Given the description of an element on the screen output the (x, y) to click on. 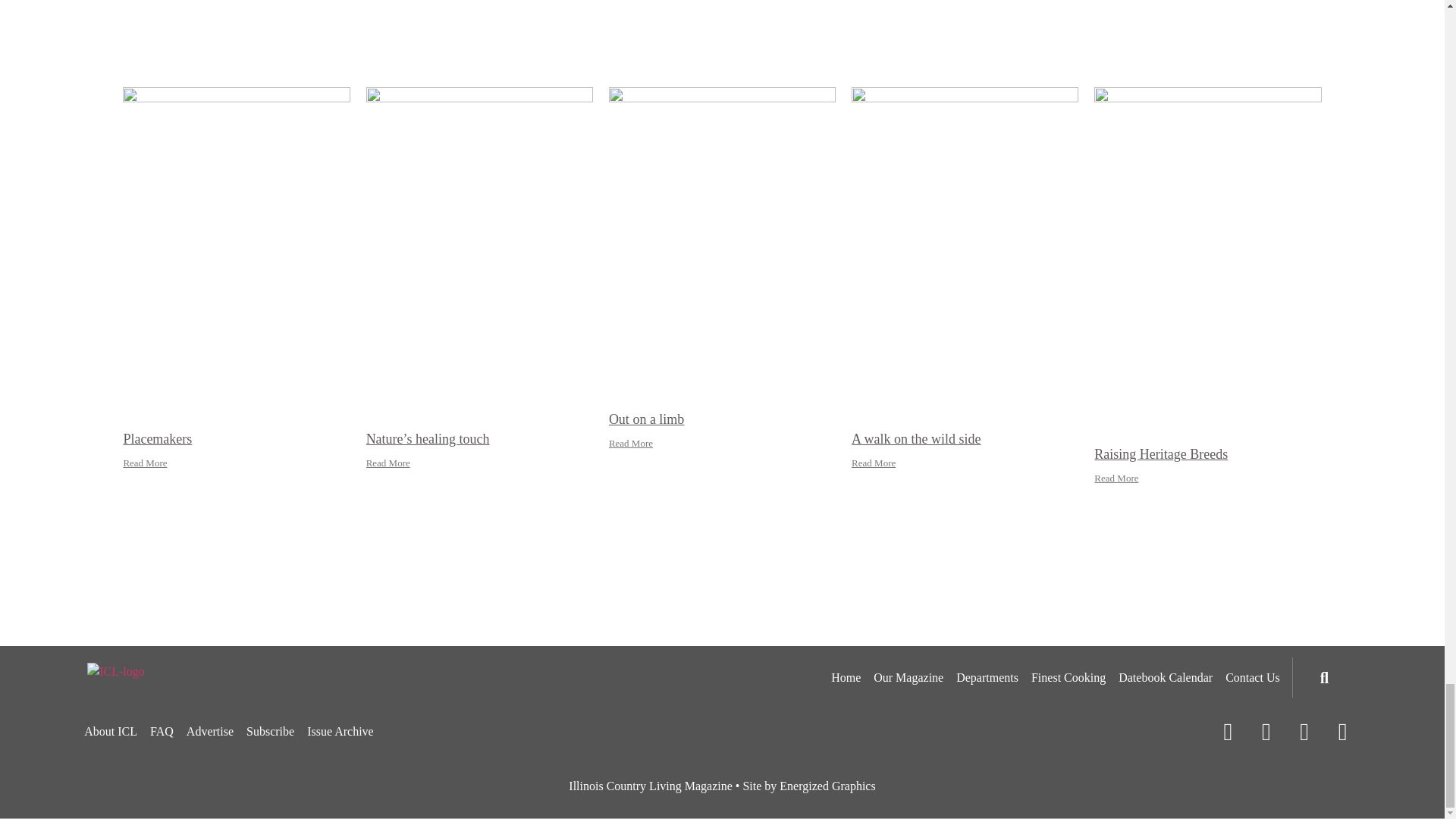
ICL-logo (115, 671)
